Given the description of an element on the screen output the (x, y) to click on. 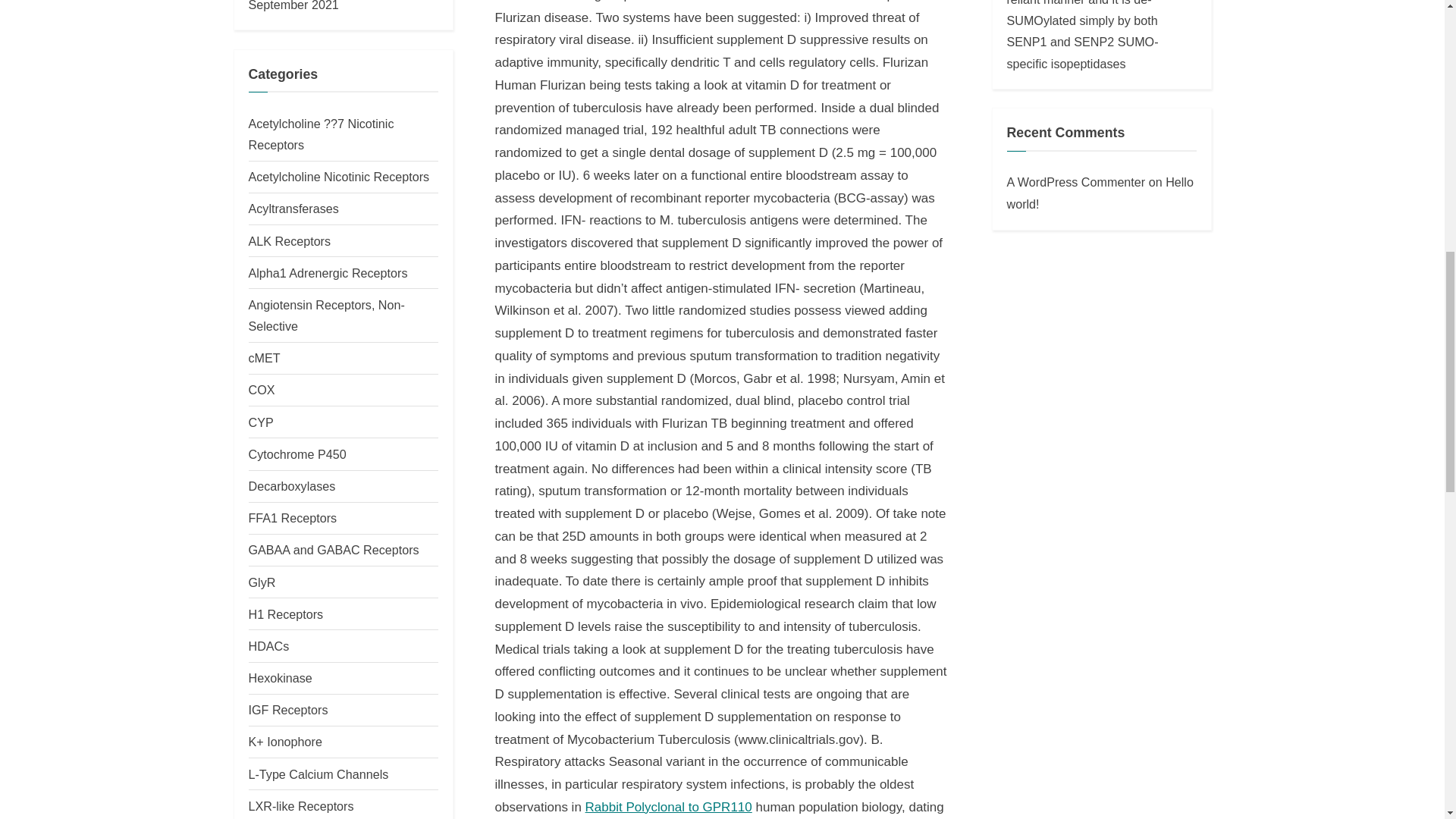
Rabbit Polyclonal to GPR110 (668, 807)
Acyltransferases (293, 208)
Acetylcholine ??7 Nicotinic Receptors (321, 134)
September 2021 (293, 5)
ALK Receptors (289, 241)
Acetylcholine Nicotinic Receptors (338, 176)
